Given the description of an element on the screen output the (x, y) to click on. 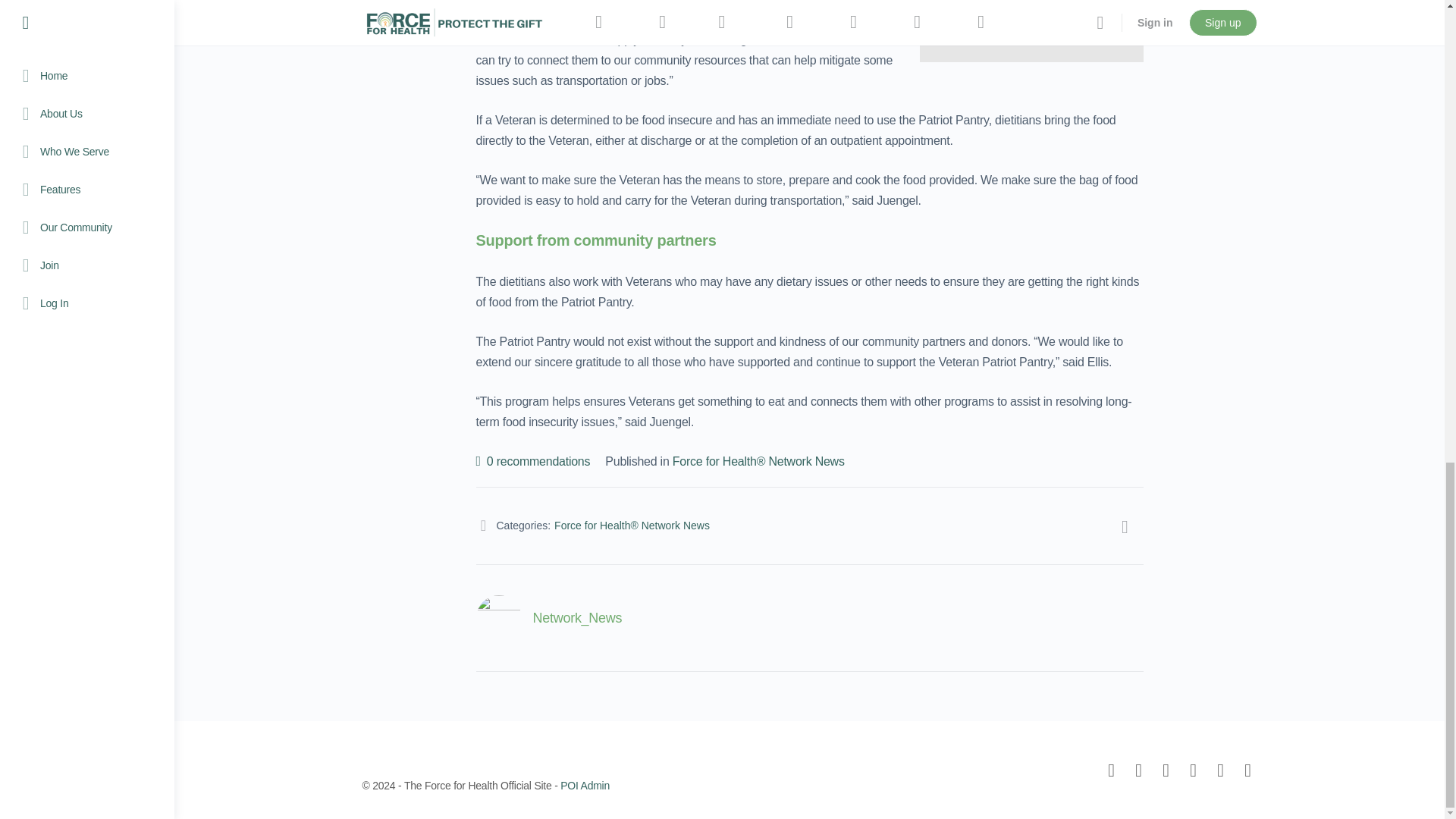
Recommend this article (533, 461)
